Given the description of an element on the screen output the (x, y) to click on. 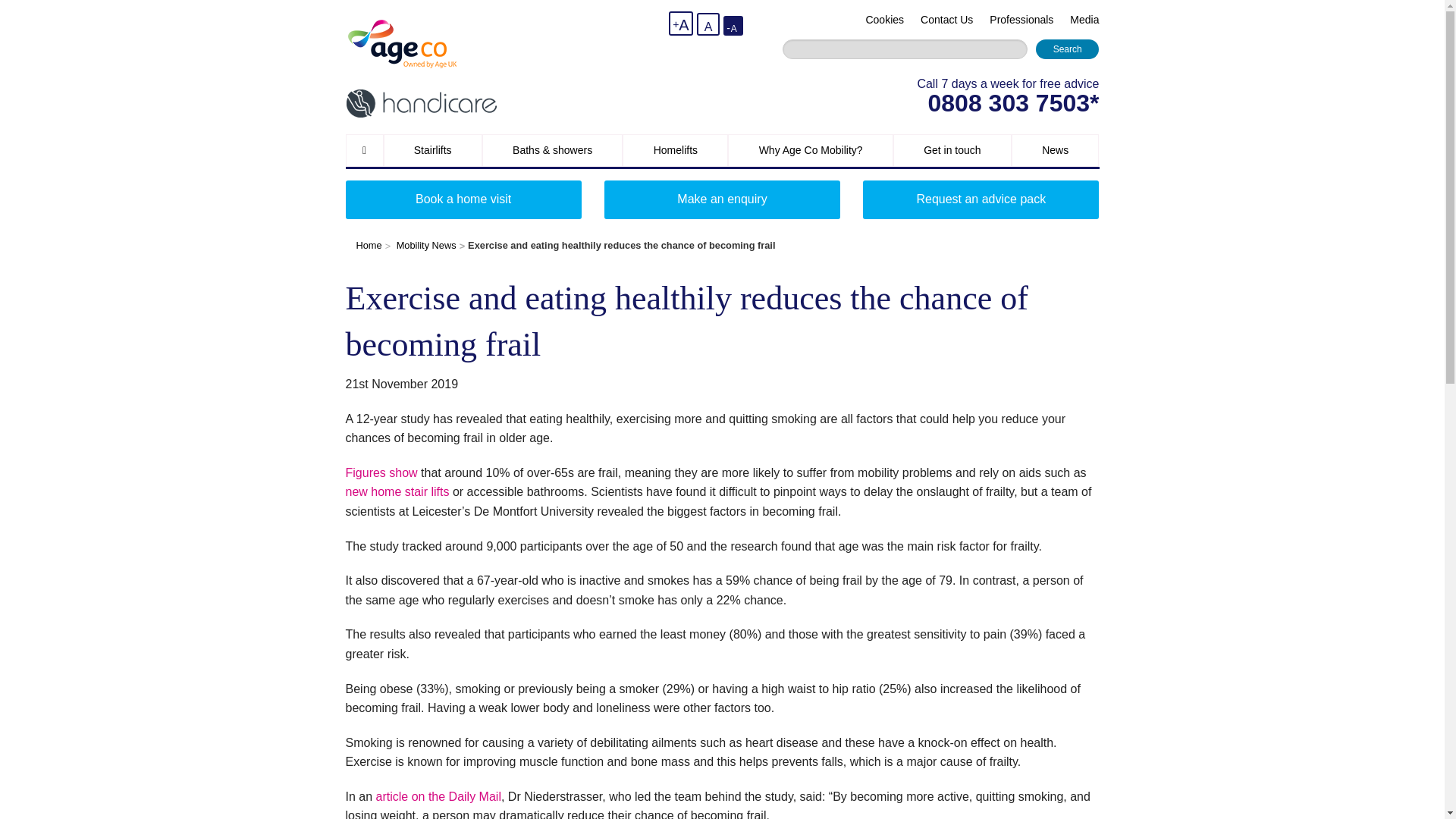
Search (1067, 48)
Figures show (381, 472)
A (708, 24)
Stairlifts (432, 149)
Book a home visit (463, 199)
Professionals (1021, 19)
Cookies (884, 19)
-A (732, 25)
News (1055, 149)
Make an enquiry (722, 199)
